Given the description of an element on the screen output the (x, y) to click on. 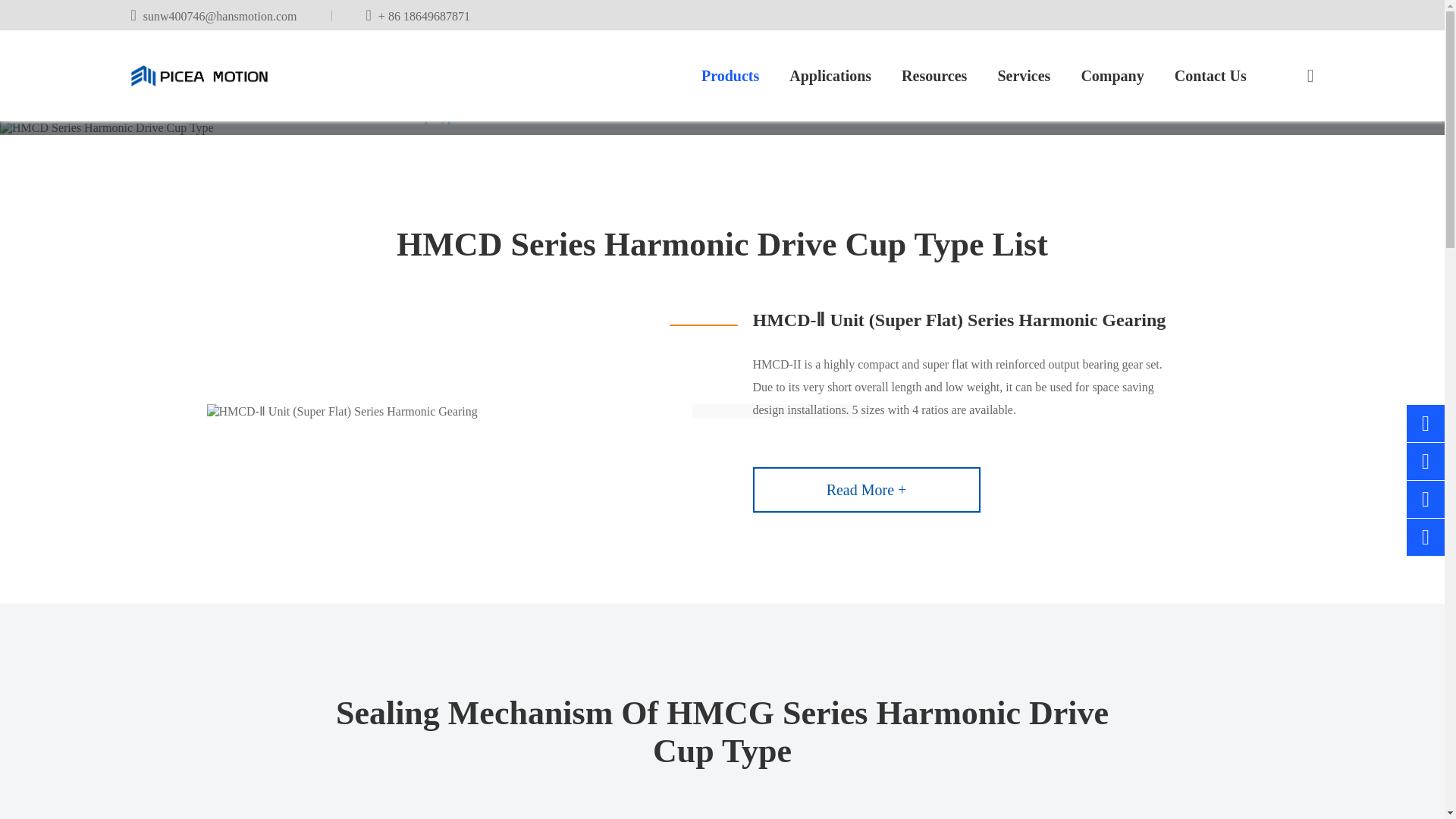
Shenzhen PICEA Motion Technology Co., Ltd (198, 75)
HMCD Series Harmonic Drive Cup Type (353, 116)
Products (209, 116)
